Given the description of an element on the screen output the (x, y) to click on. 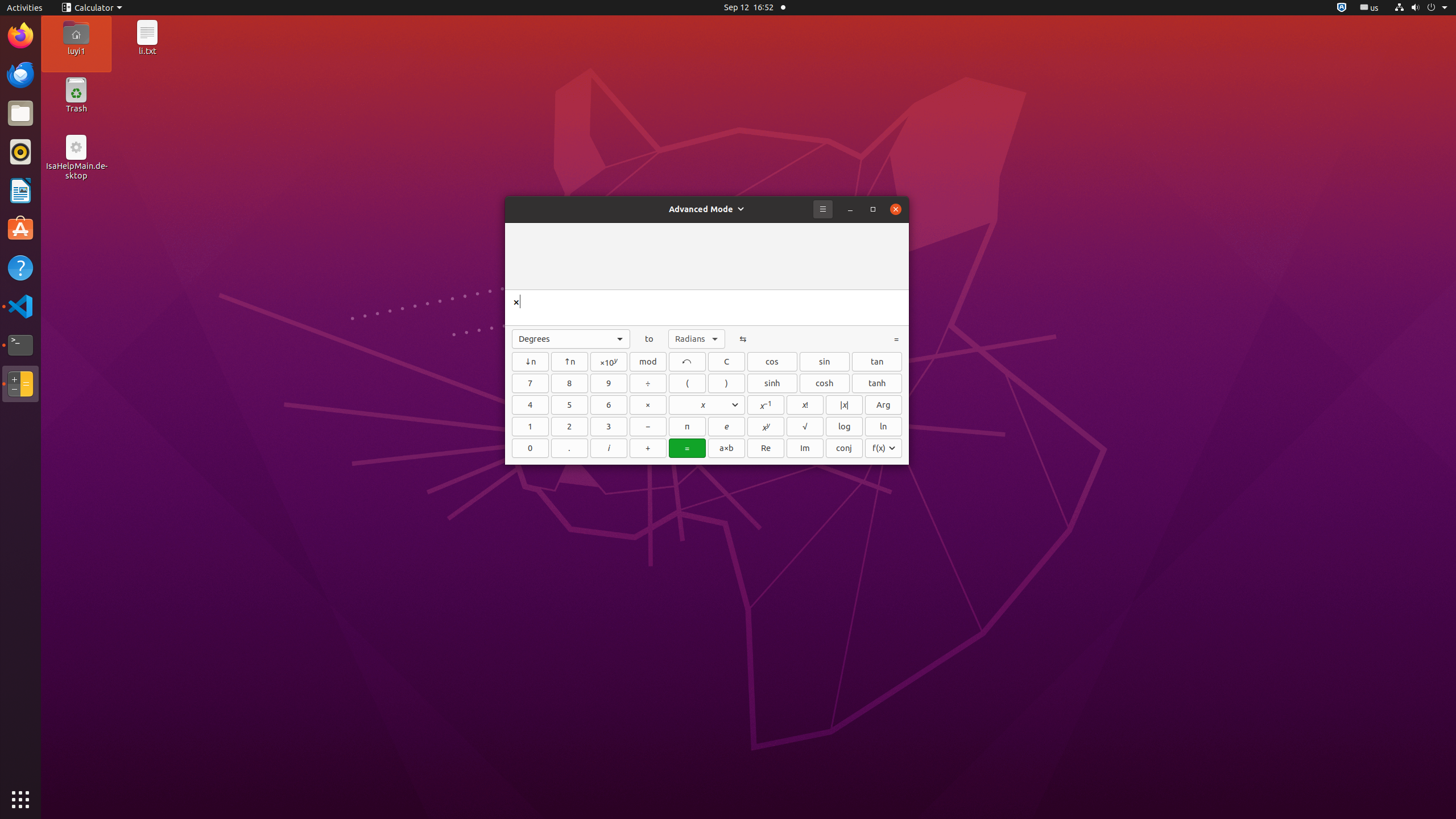
Absolute Value Element type: push-button (843, 404)
7 Element type: push-button (529, 383)
√ Element type: push-button (804, 426)
tan Element type: push-button (876, 361)
mod Element type: push-button (647, 361)
